Given the description of an element on the screen output the (x, y) to click on. 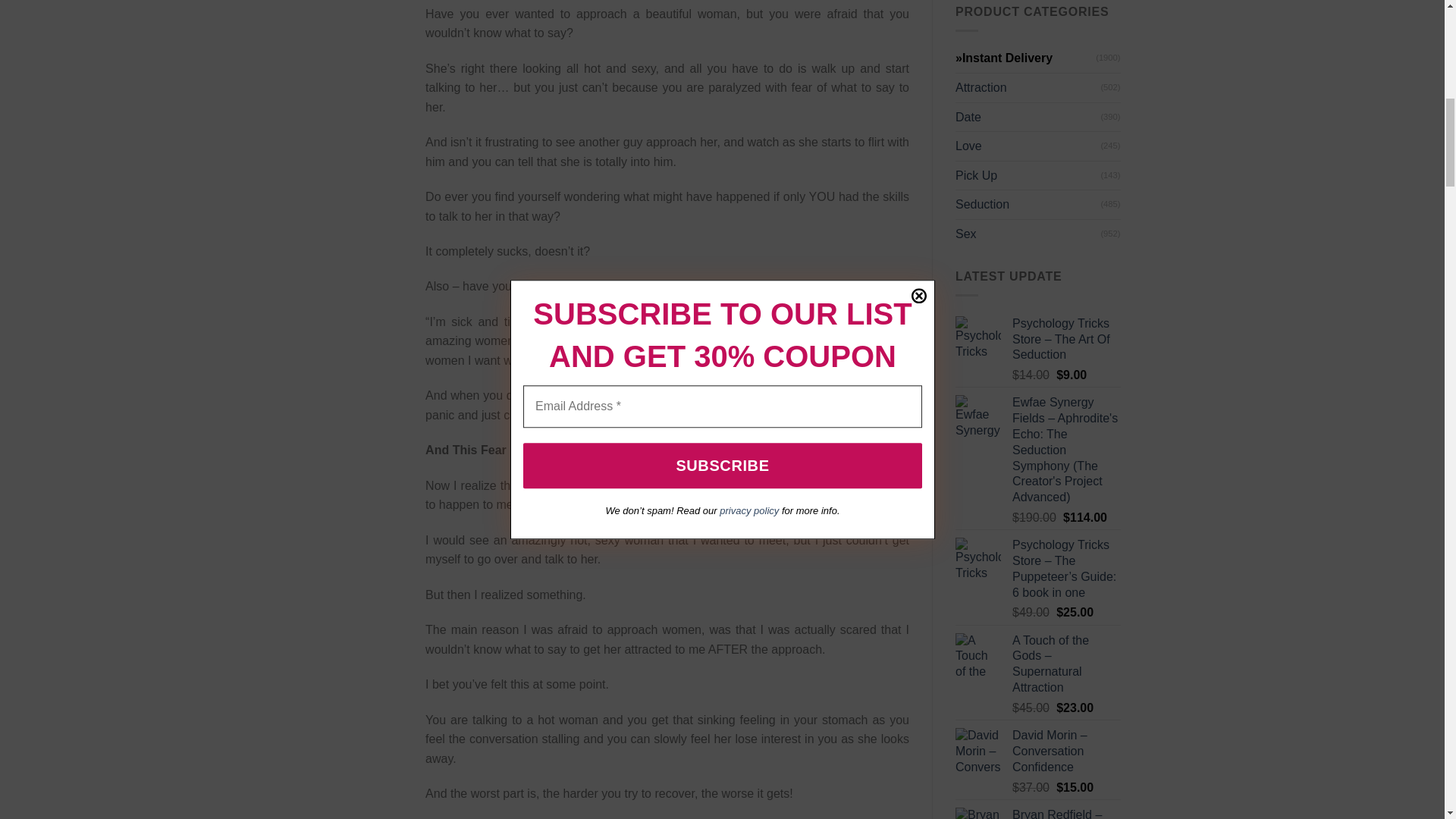
Love (1027, 145)
Date (1027, 117)
Attraction (1027, 87)
Sex (1027, 234)
Seduction (1027, 204)
Pick Up (1027, 175)
